Given the description of an element on the screen output the (x, y) to click on. 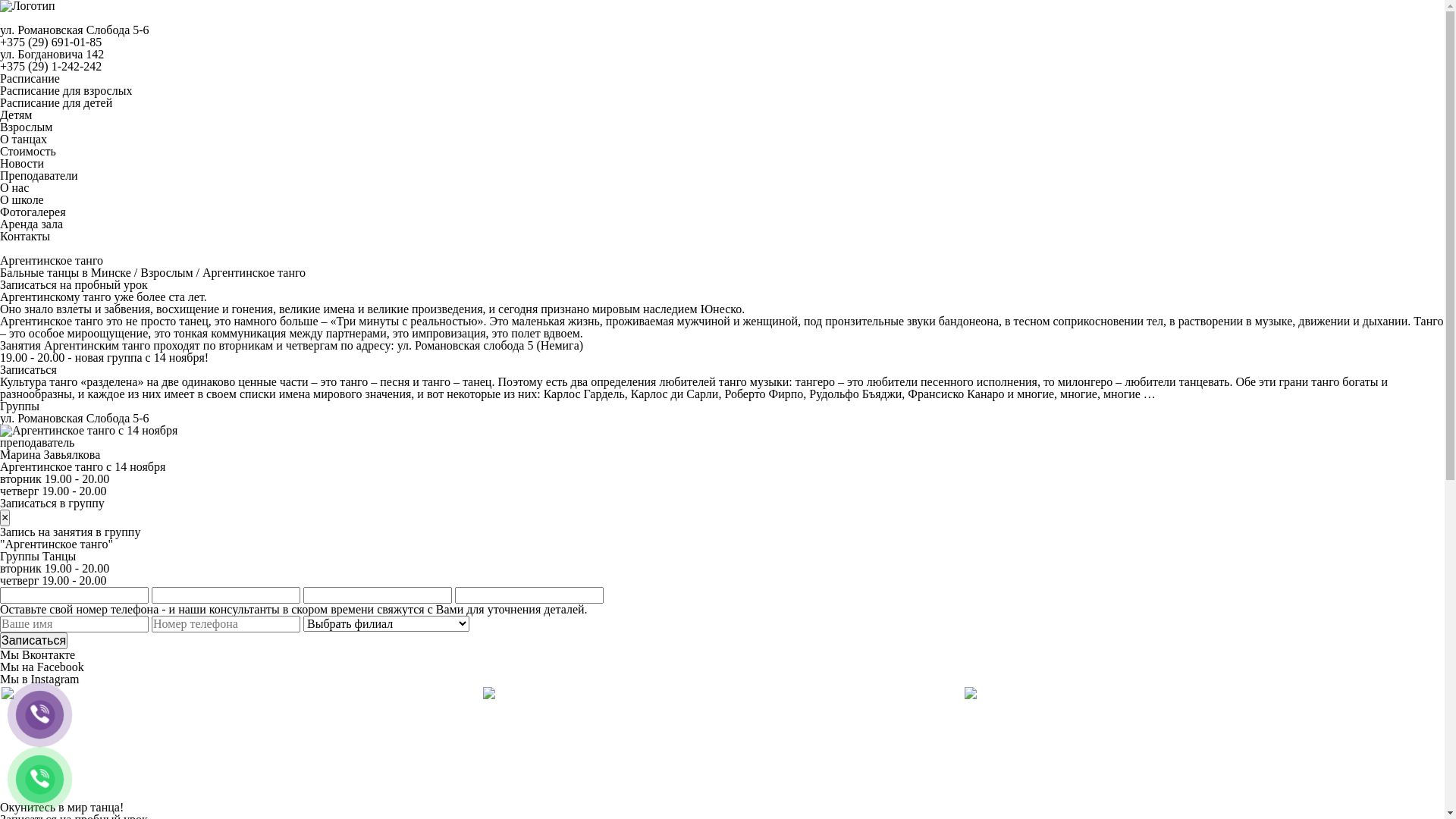
+375 (29) 1-242-242 Element type: text (50, 65)
+375 (29) 691-01-85 Element type: text (50, 41)
